Given the description of an element on the screen output the (x, y) to click on. 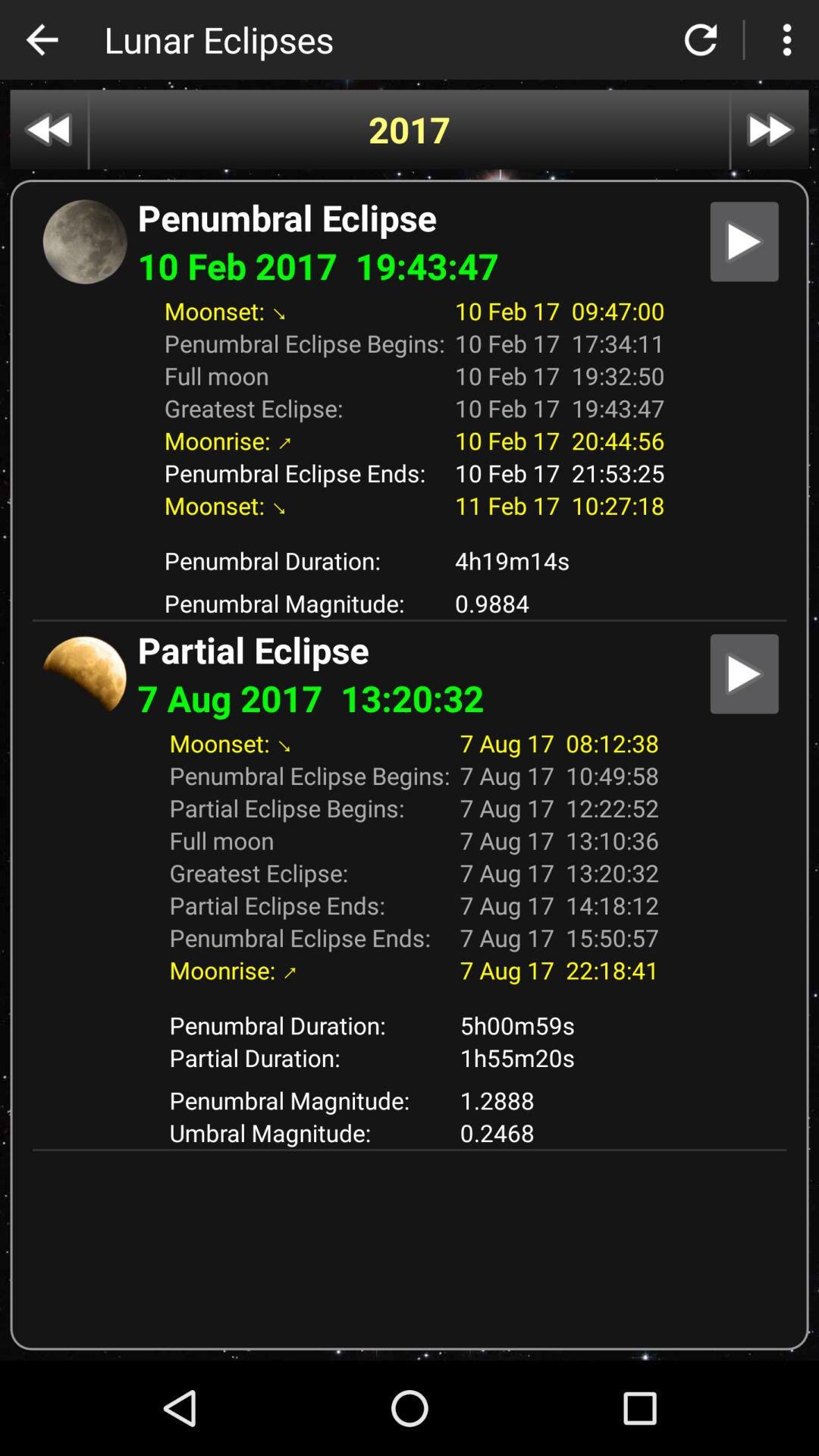
tap 5h00m59s app (559, 1024)
